Given the description of an element on the screen output the (x, y) to click on. 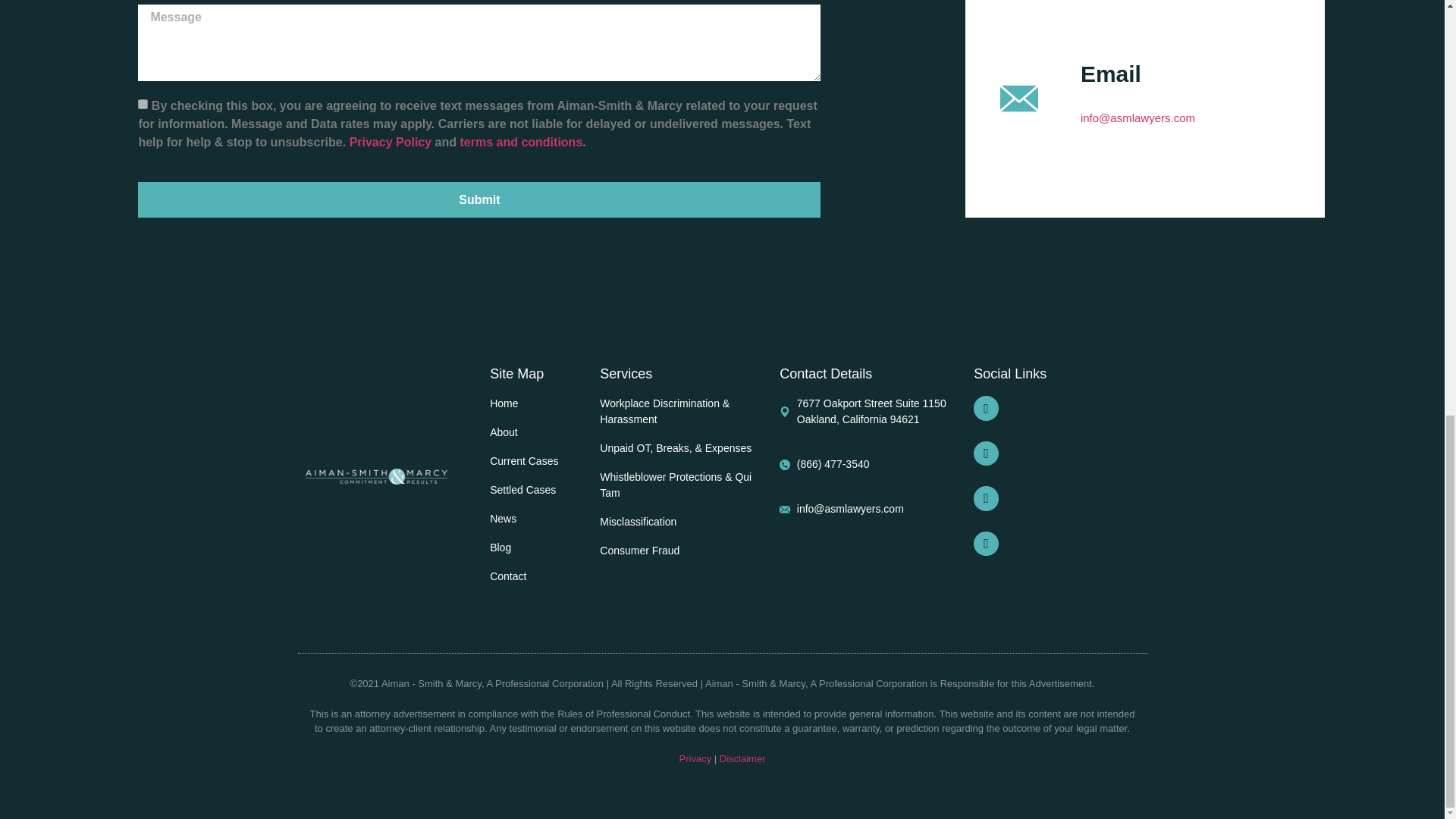
Privacy Policy (392, 141)
terms and conditions (521, 141)
